Given the description of an element on the screen output the (x, y) to click on. 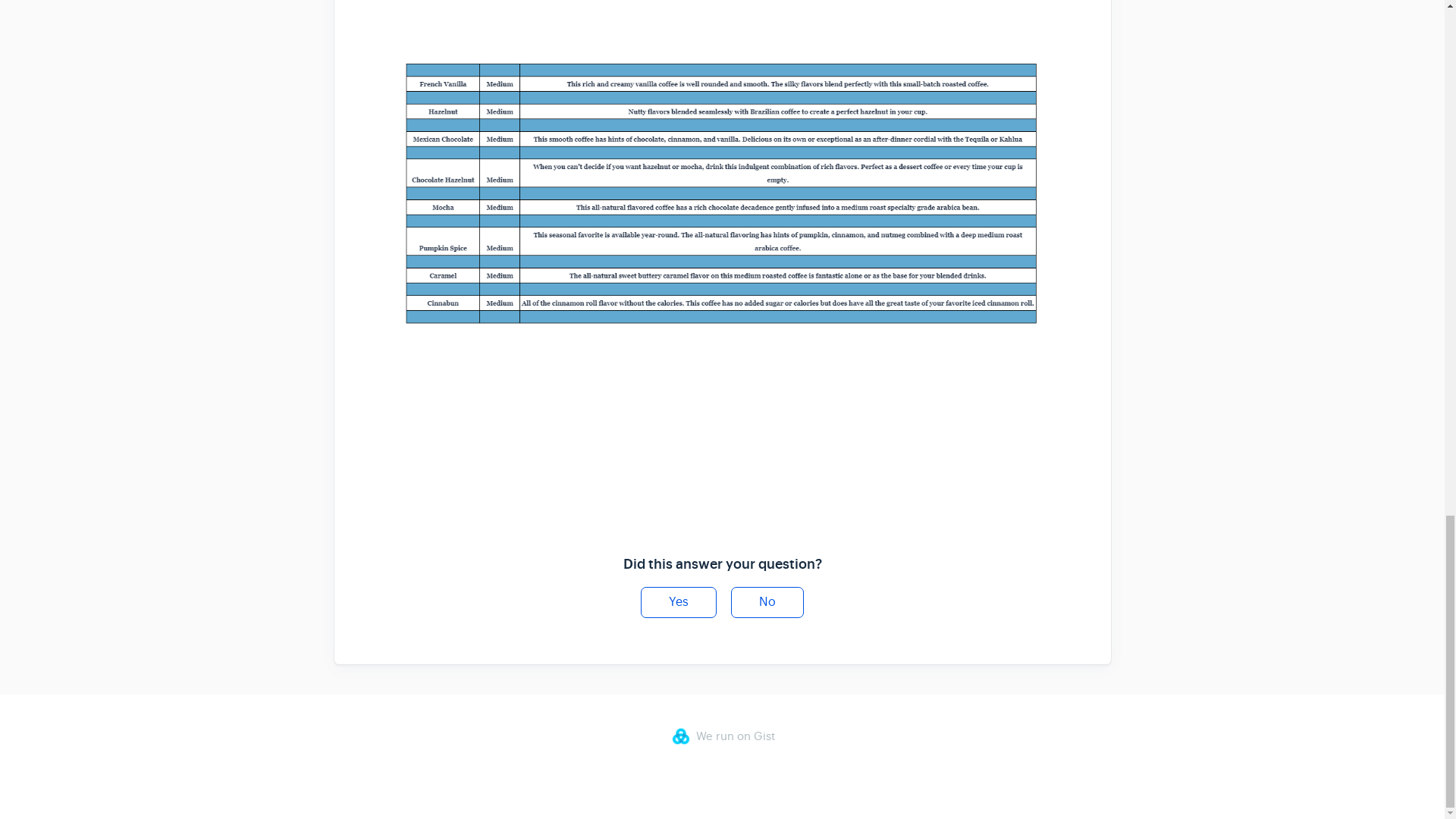
Yes (678, 602)
No (766, 602)
We run on Gist (721, 735)
